Given the description of an element on the screen output the (x, y) to click on. 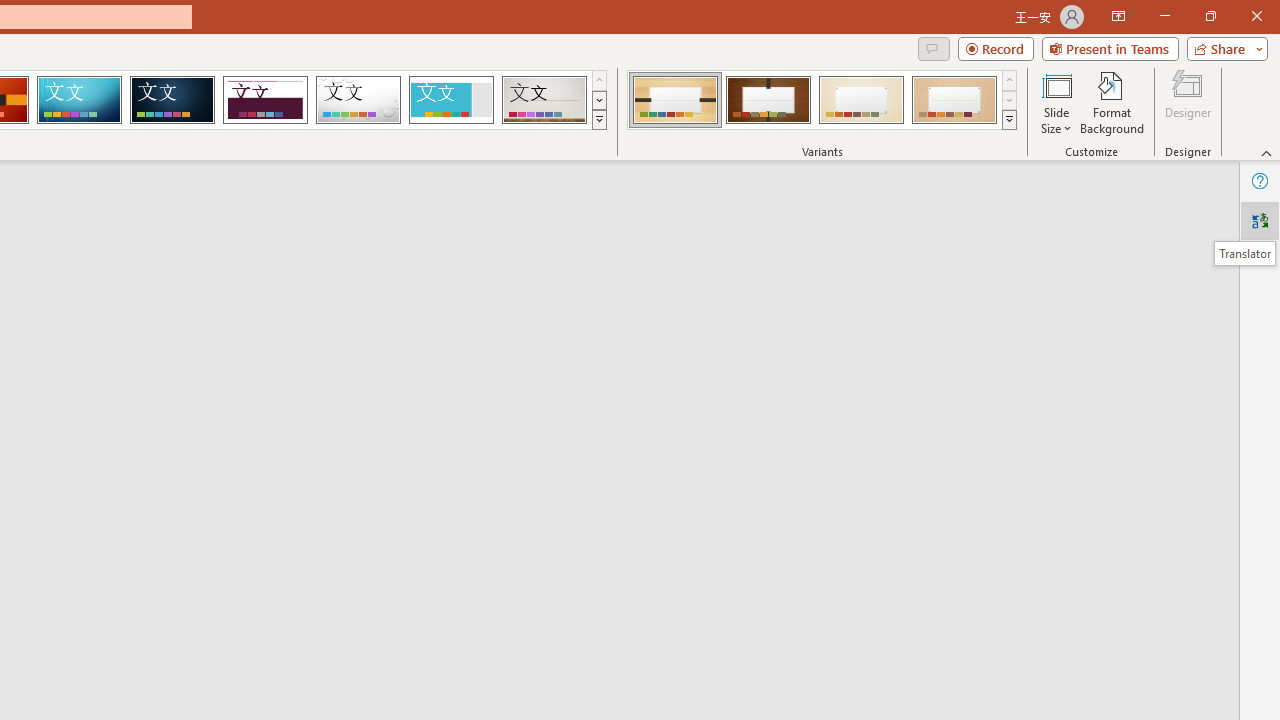
Gallery (544, 100)
Circuit (79, 100)
